Given the description of an element on the screen output the (x, y) to click on. 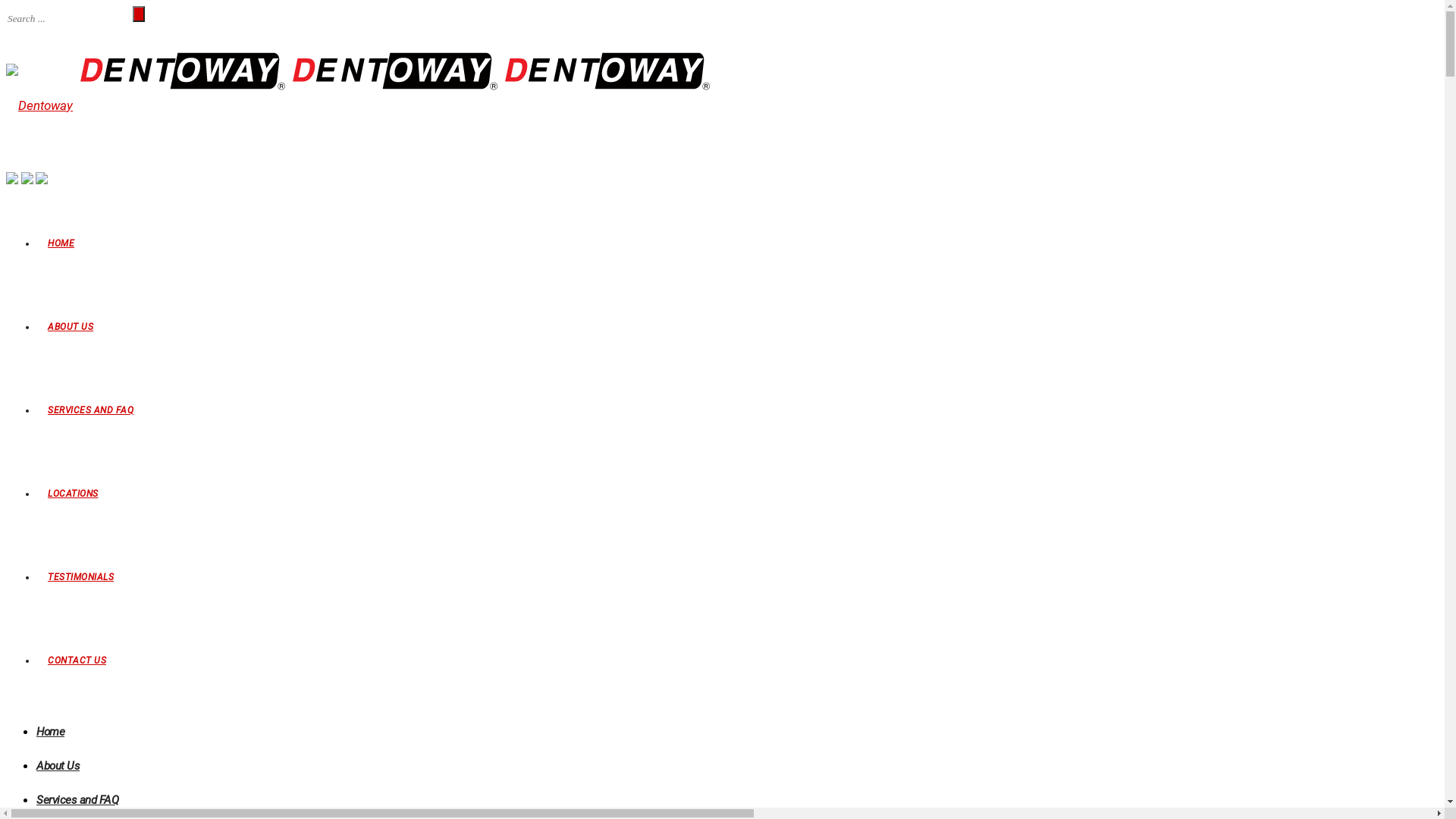
CONTACT US Element type: text (76, 660)
HOME Element type: text (60, 243)
About Us Element type: text (57, 765)
TESTIMONIALS Element type: text (80, 576)
Home Element type: text (50, 731)
LOCATIONS Element type: text (72, 493)
ABOUT US Element type: text (70, 326)
Services and FAQ Element type: text (77, 799)
SERVICES AND FAQ Element type: text (90, 409)
